Given the description of an element on the screen output the (x, y) to click on. 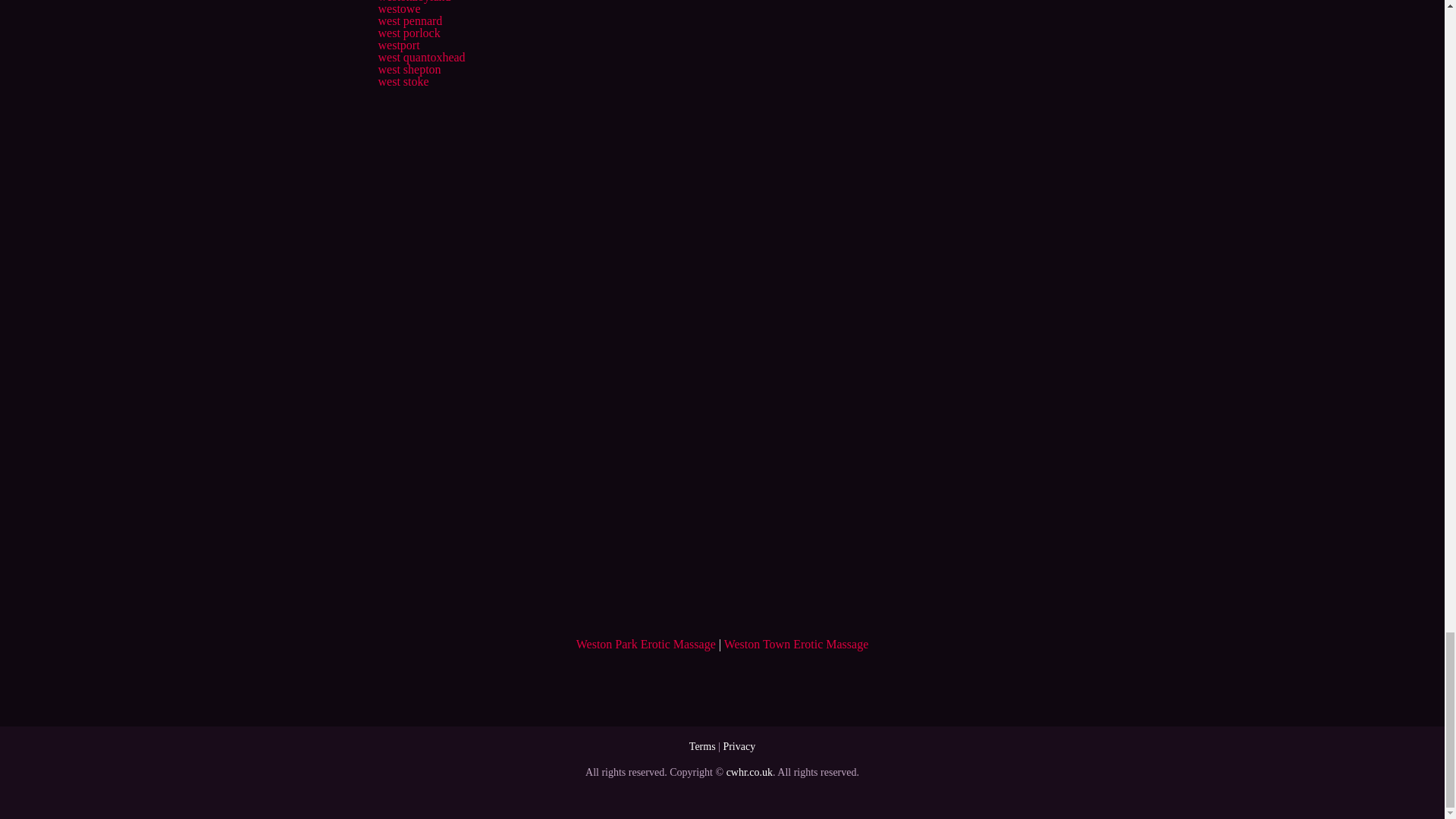
Privacy (738, 746)
west quantoxhead (420, 56)
west stoke (402, 81)
cwhr.co.uk (749, 772)
west porlock (408, 32)
west pennard (409, 20)
westowe (398, 8)
Weston Park Erotic Massage (646, 644)
Terms (702, 746)
westport (398, 44)
